Given the description of an element on the screen output the (x, y) to click on. 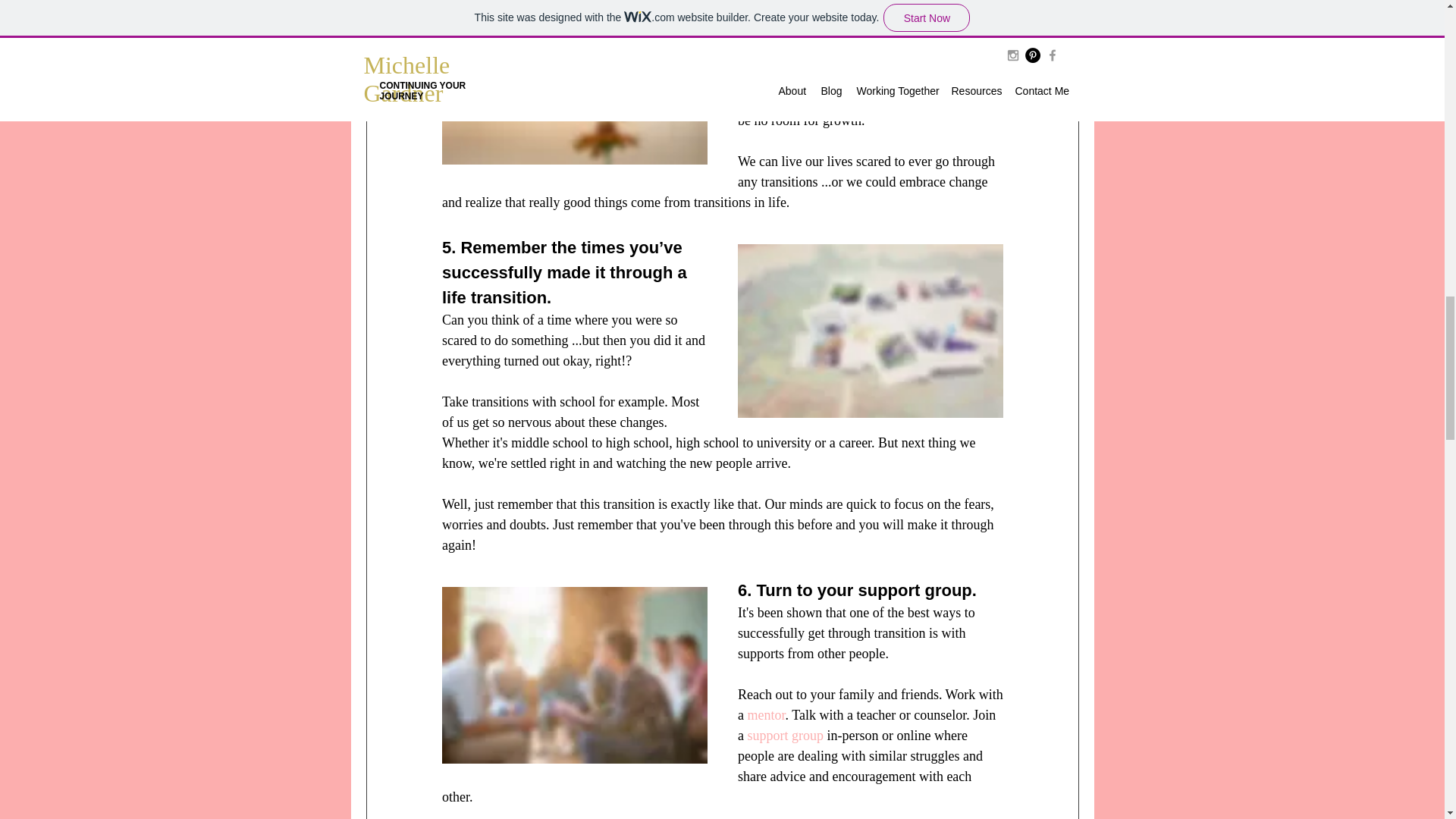
mentor (765, 714)
support group (785, 735)
